Given the description of an element on the screen output the (x, y) to click on. 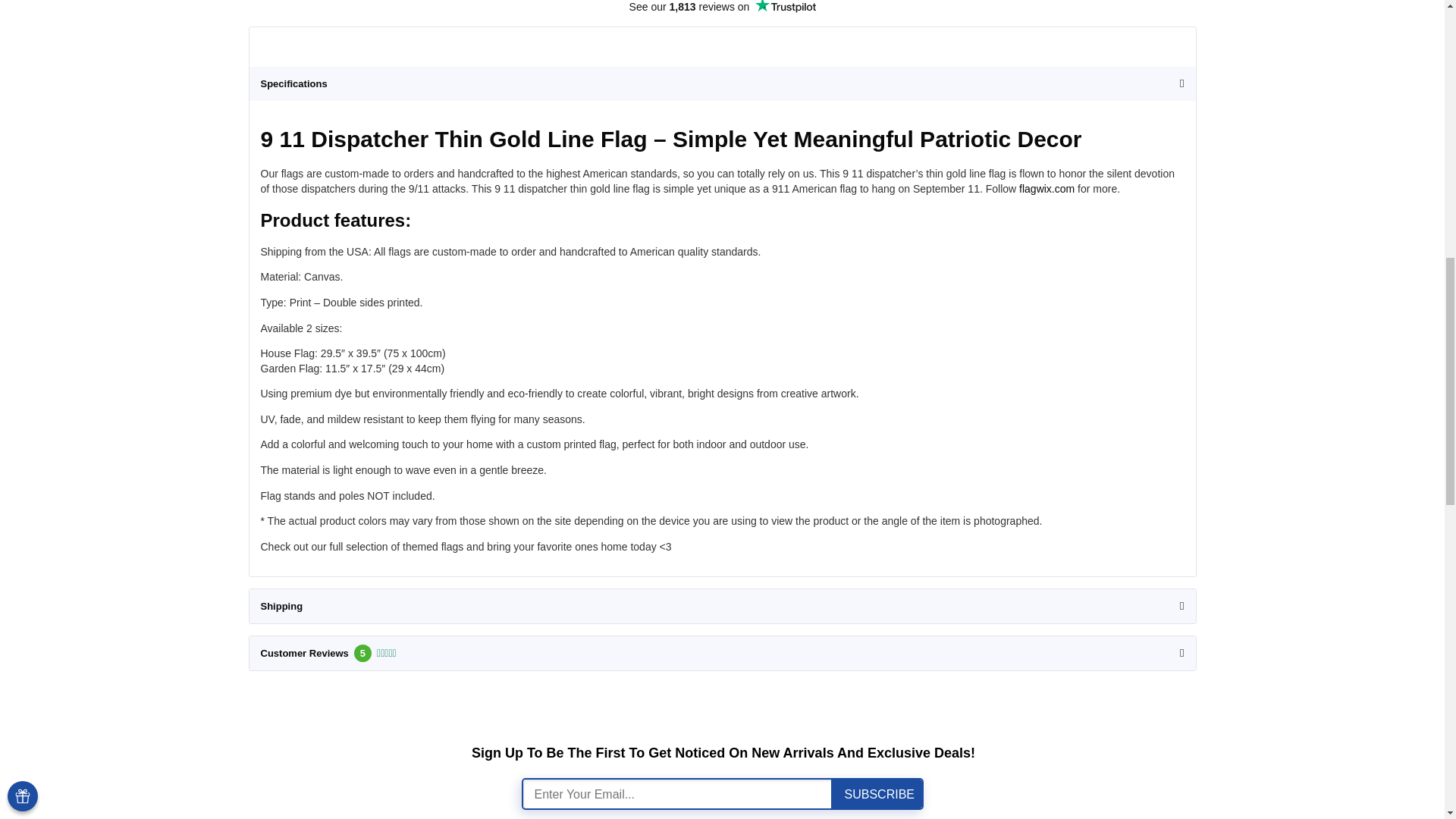
Customer reviews powered by Trustpilot (722, 7)
Customer reviews powered by Trustpilot (721, 46)
